Given the description of an element on the screen output the (x, y) to click on. 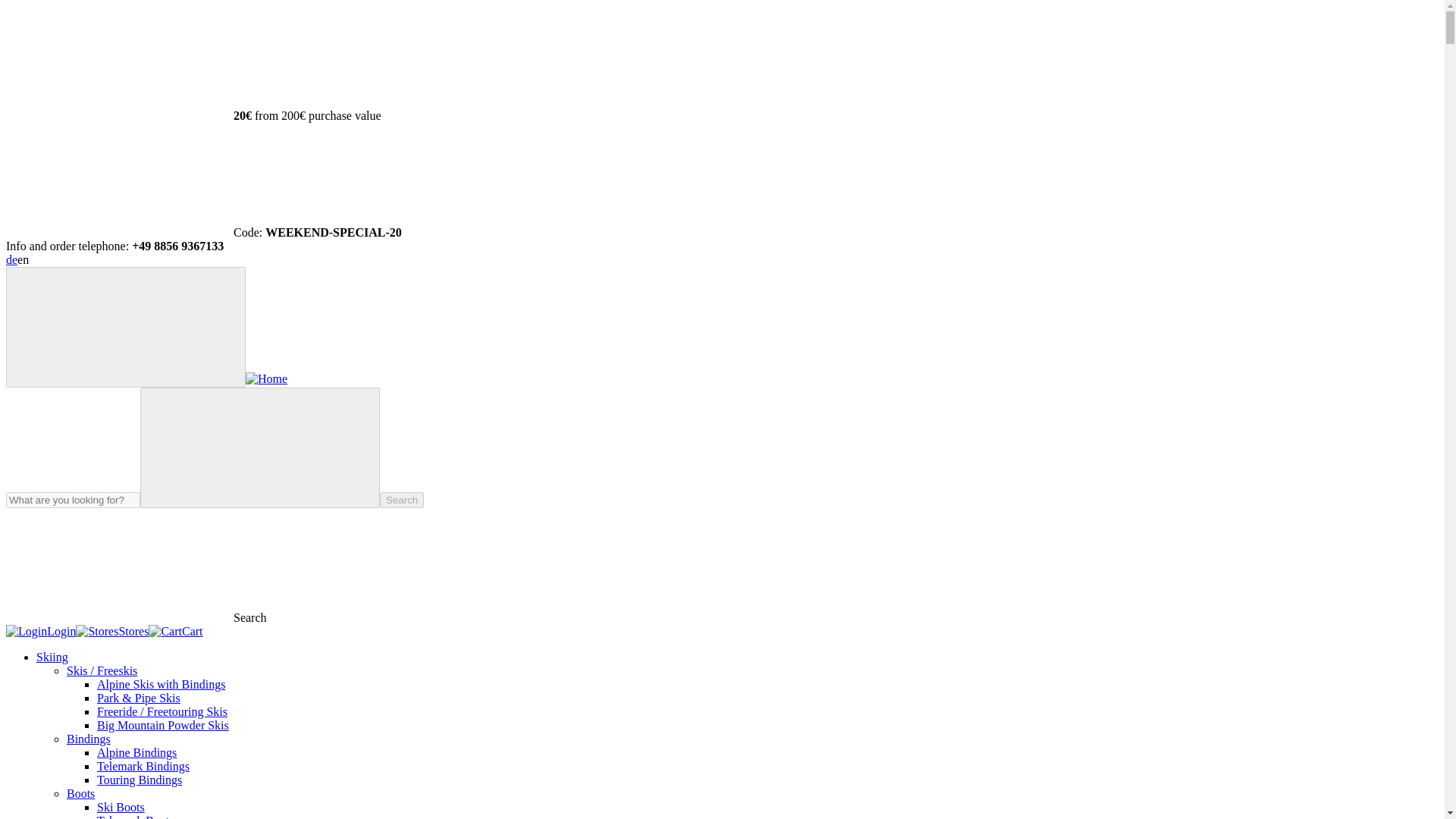
Touring Bindings (139, 779)
Alpine Bindings (136, 752)
Telemark Bindings (143, 766)
Ski Boots (120, 807)
Stores (111, 631)
Bindings (88, 738)
Boots (80, 793)
Telemark Boots (135, 816)
Login (40, 631)
Skiing (52, 656)
